Given the description of an element on the screen output the (x, y) to click on. 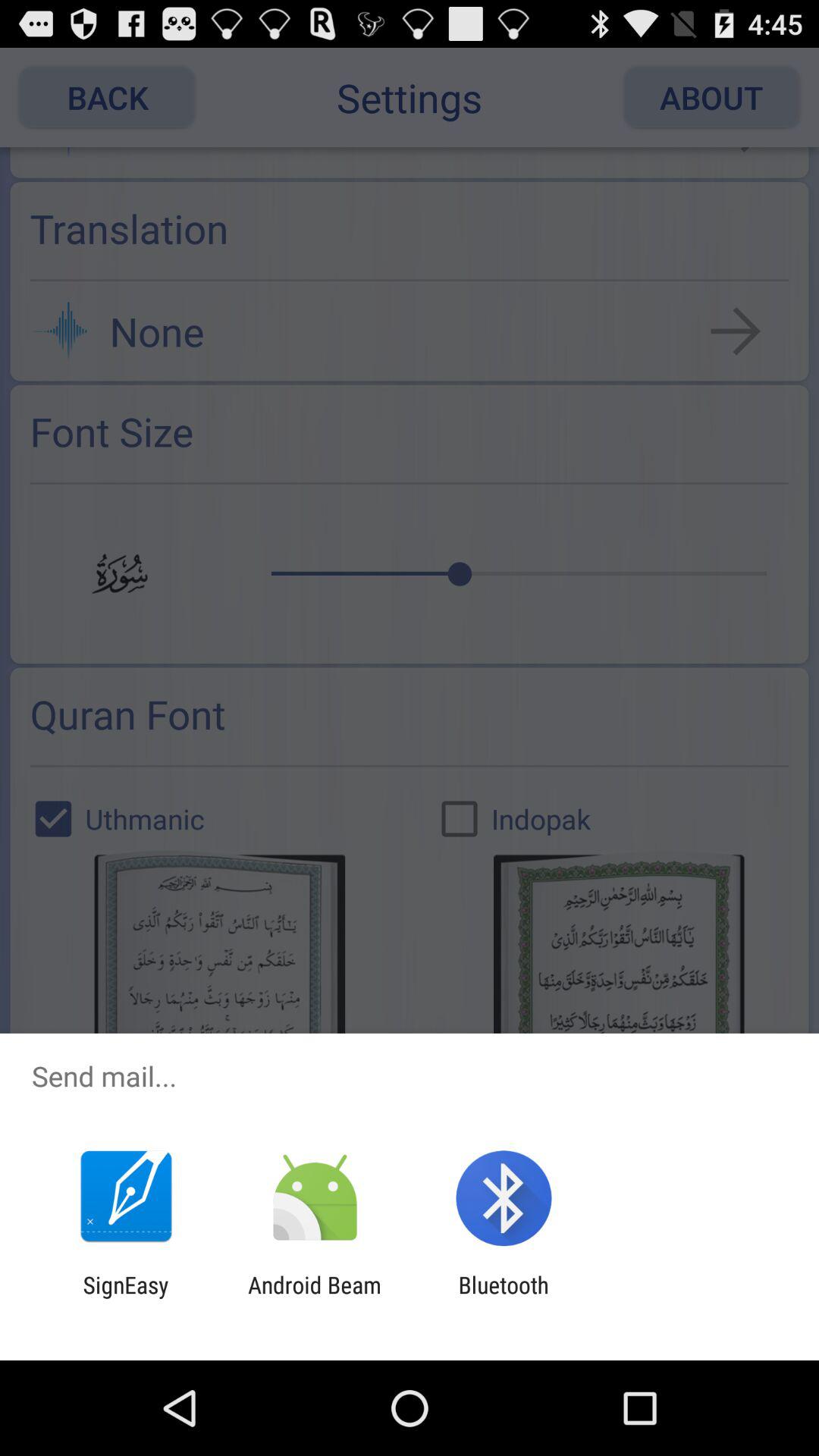
scroll to android beam (314, 1298)
